Given the description of an element on the screen output the (x, y) to click on. 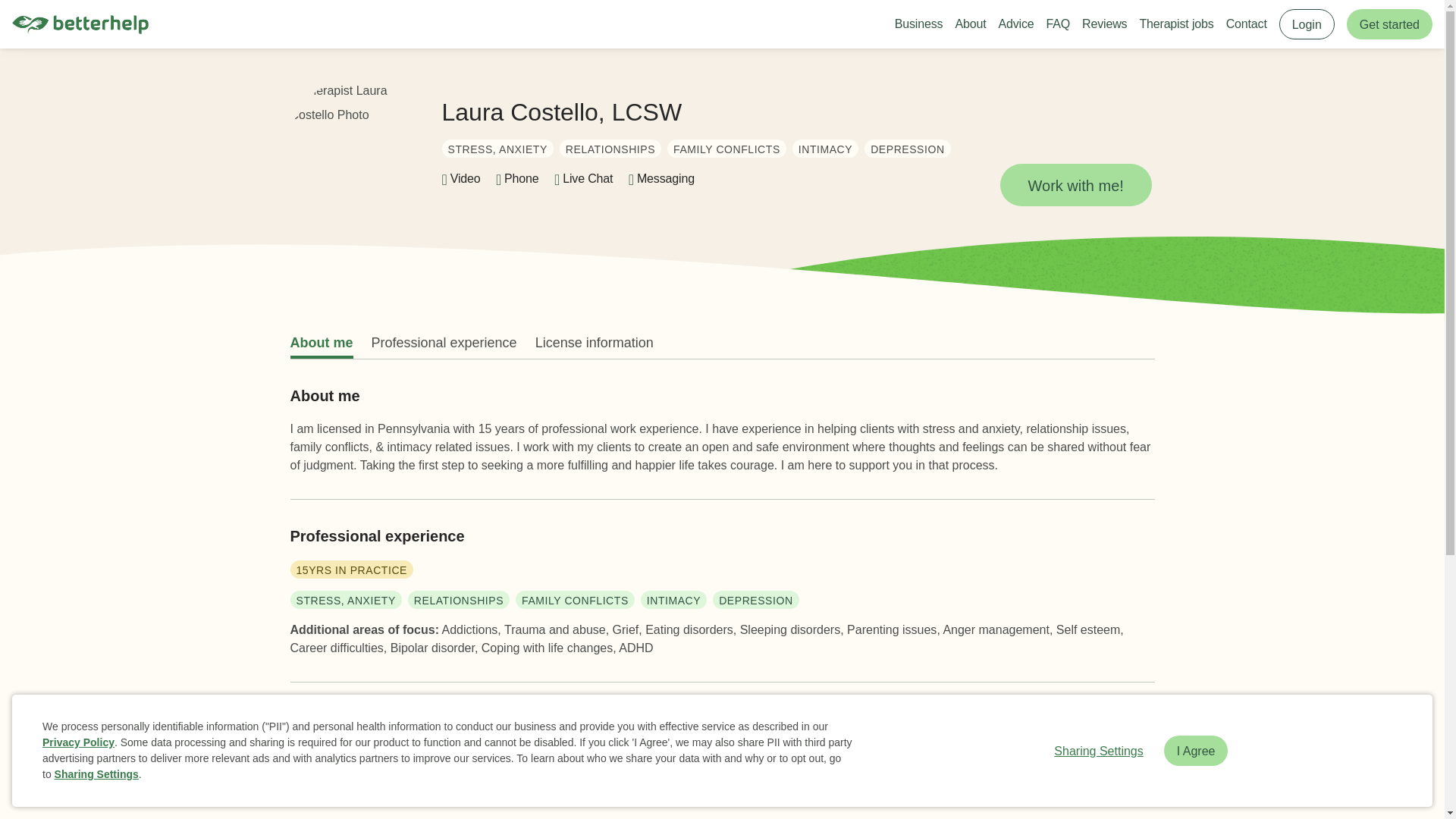
Privacy Policy (78, 742)
Therapist jobs (1175, 24)
Business (919, 24)
Sharing Settings (96, 774)
License information (594, 342)
Get started (1389, 24)
Work with me! (1074, 184)
About me (320, 342)
Sharing Settings (1098, 750)
Reviews (1103, 24)
